Given the description of an element on the screen output the (x, y) to click on. 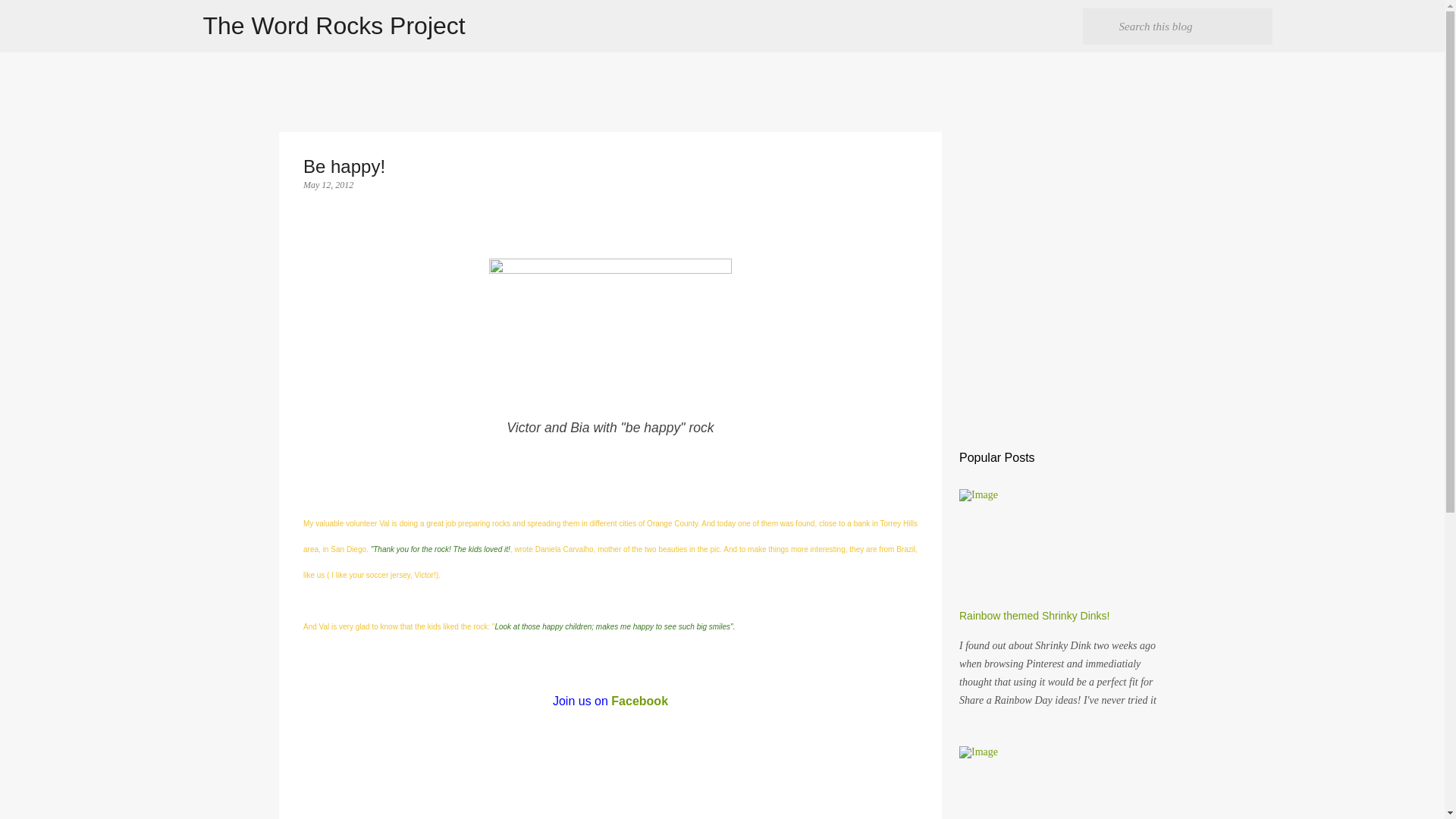
Facebook (639, 700)
permanent link (327, 184)
Rainbow themed Shrinky Dinks! (1034, 615)
The Word Rocks Project (334, 25)
May 12, 2012 (327, 184)
